Given the description of an element on the screen output the (x, y) to click on. 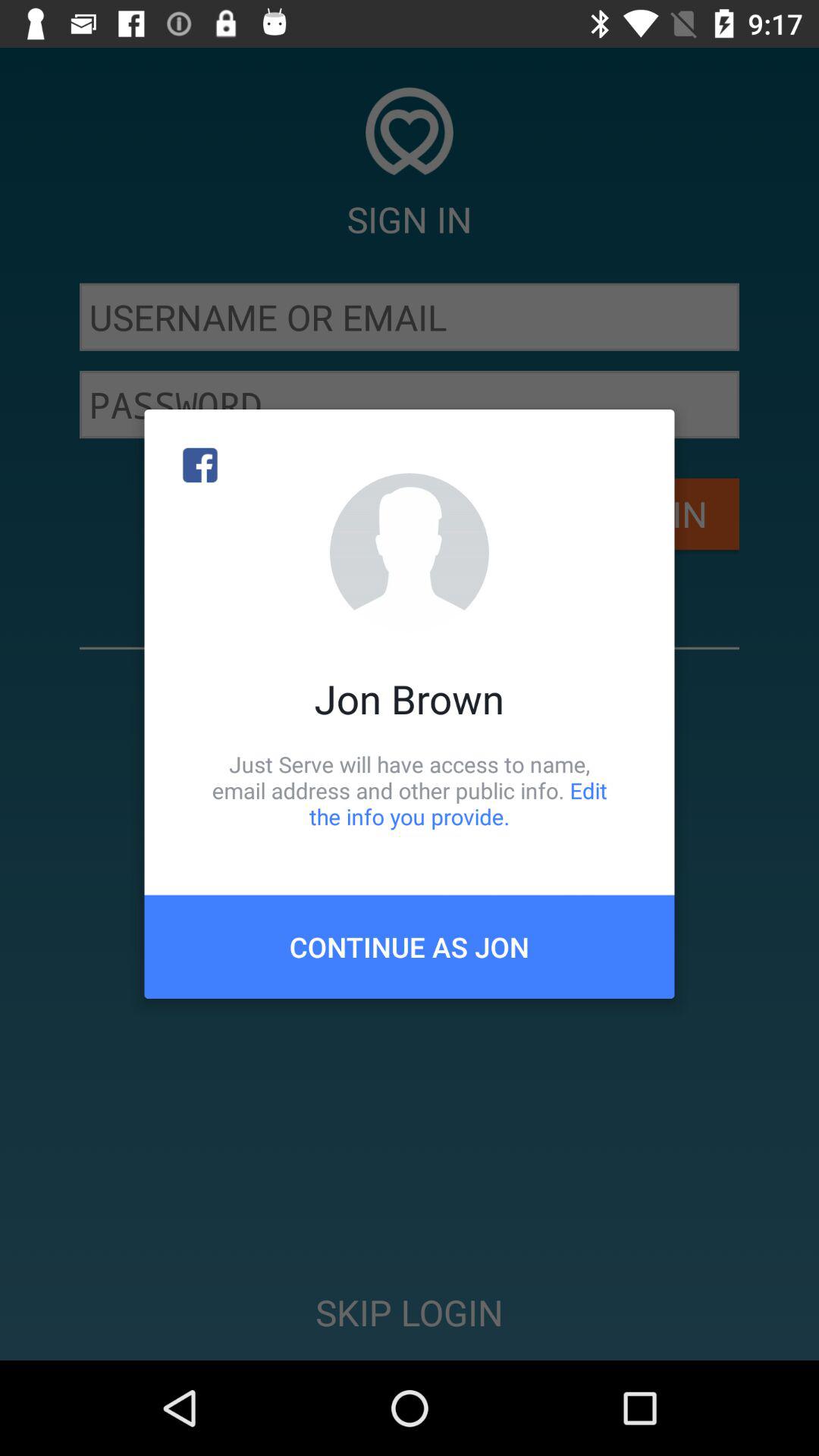
flip to the just serve will item (409, 790)
